Given the description of an element on the screen output the (x, y) to click on. 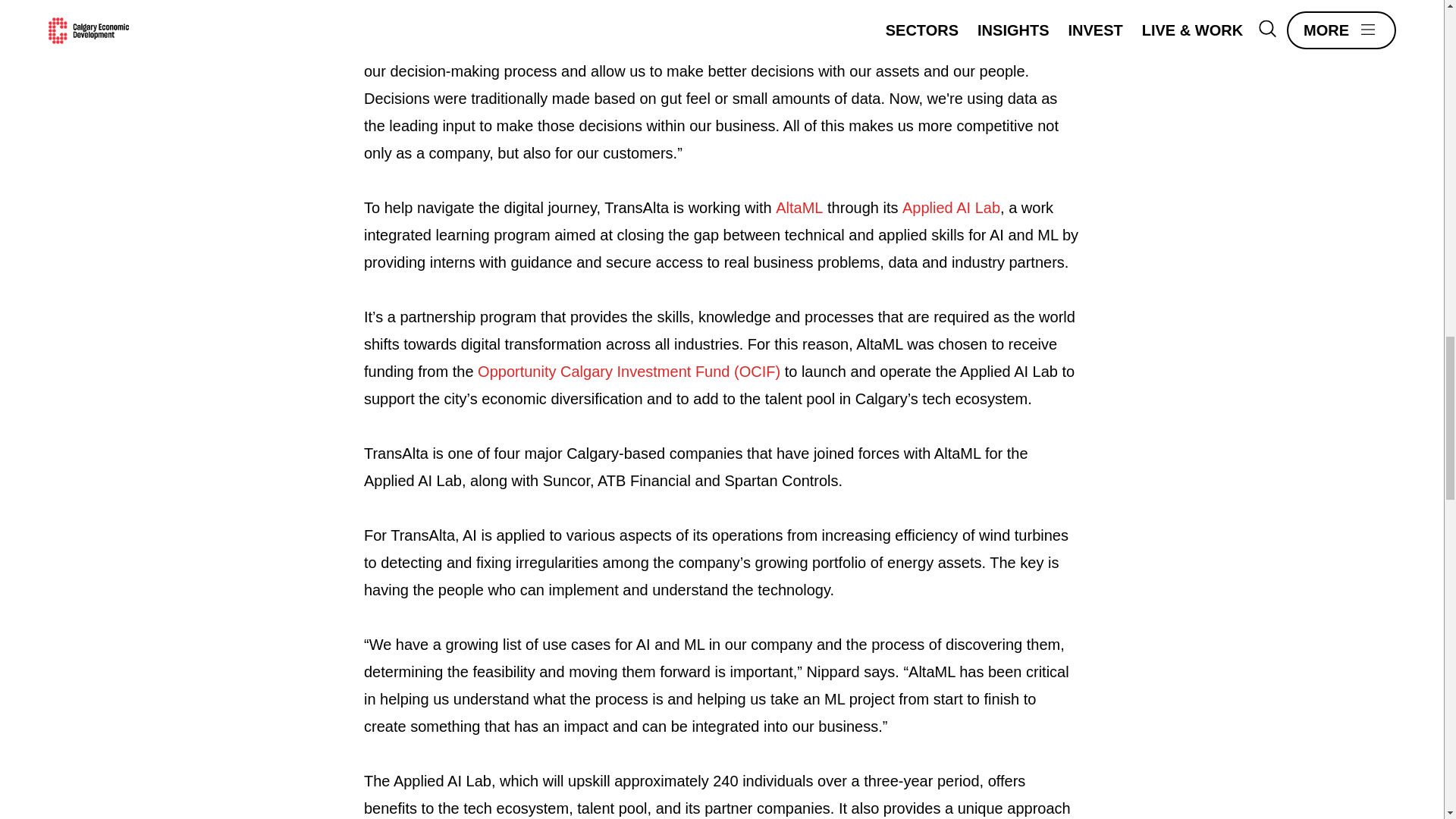
AltaML Applied AI Lab (951, 207)
AltaML (799, 207)
Opportunity Calgary Investment Fund (628, 371)
